Given the description of an element on the screen output the (x, y) to click on. 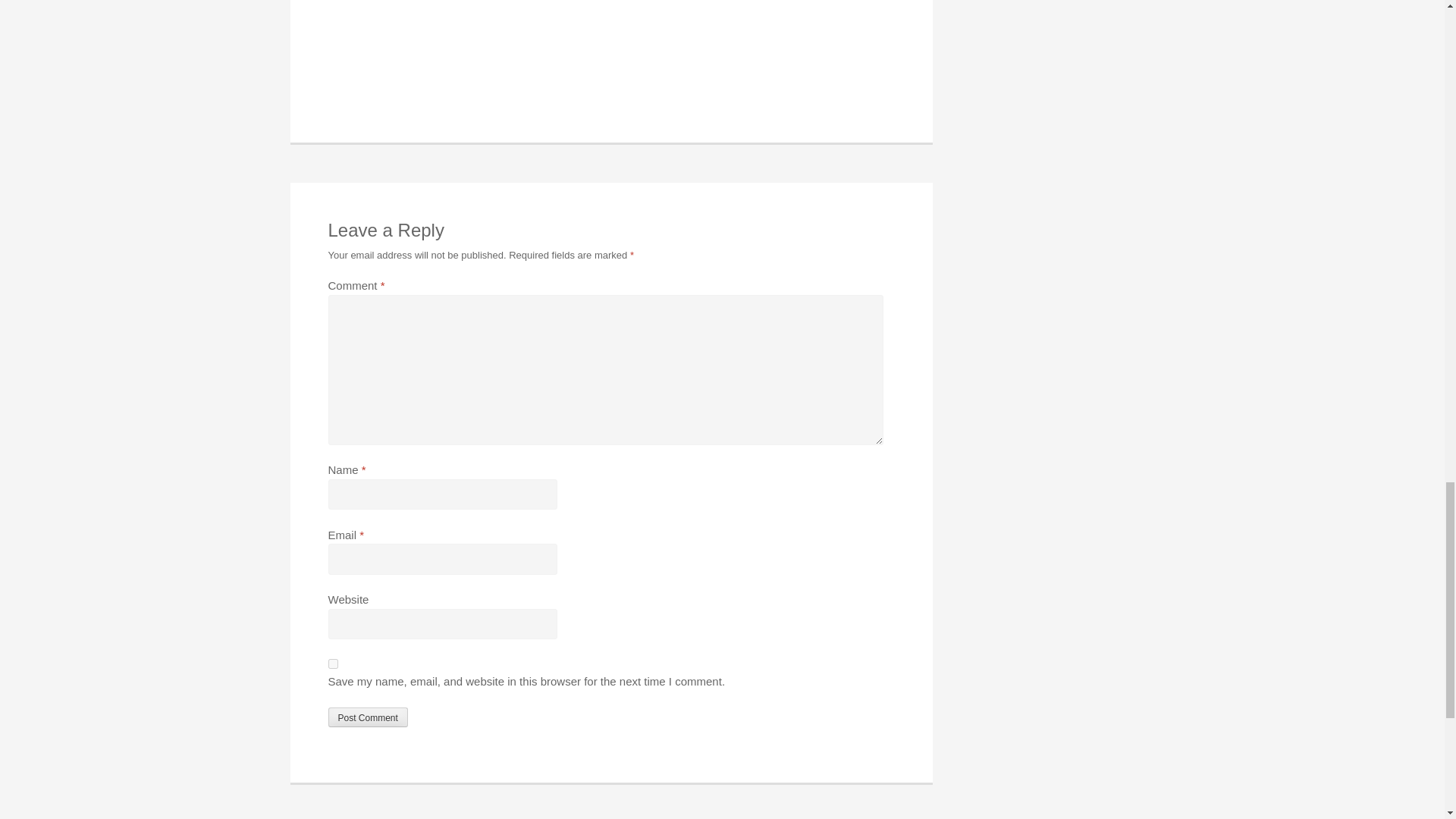
Post Comment (367, 717)
yes (332, 664)
Post Comment (367, 717)
